Given the description of an element on the screen output the (x, y) to click on. 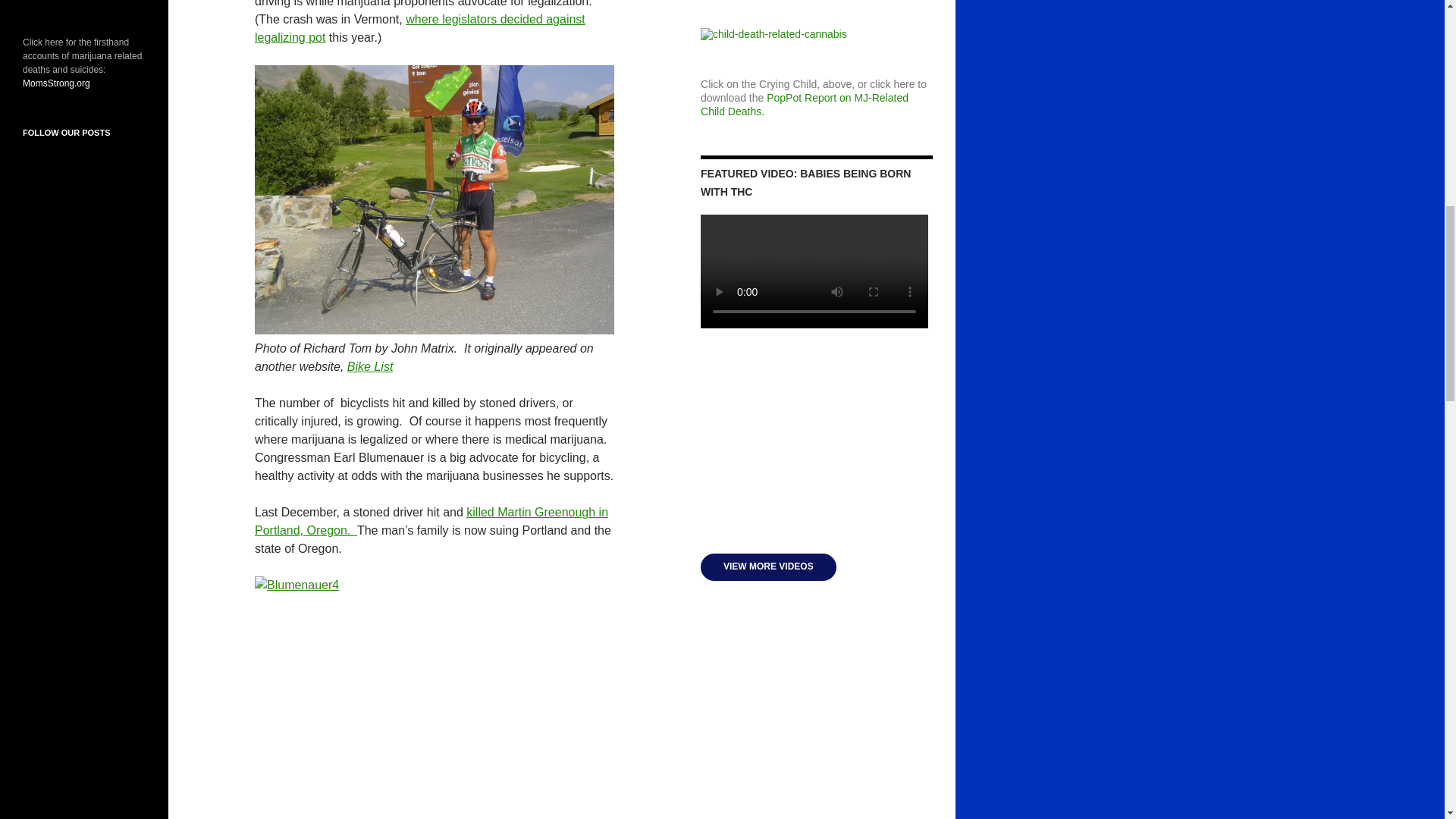
killed Martin Greenough in Portland, Oregon.  (431, 521)
where legislators decided against legalizing pot (419, 28)
Bike List (370, 366)
Marijuana-Impaired Driving:  What the Data Shows (816, 451)
